Given the description of an element on the screen output the (x, y) to click on. 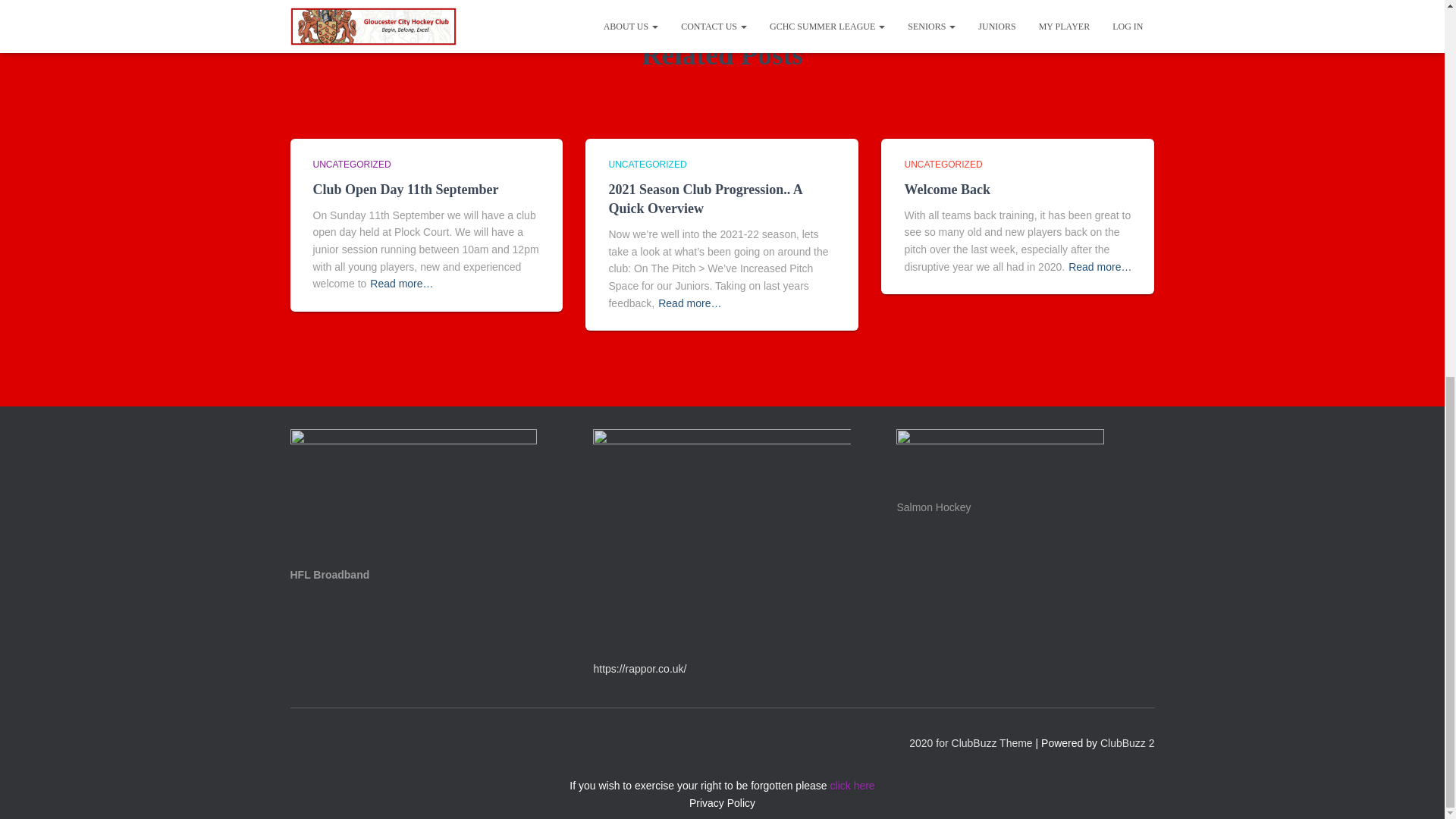
Club Open Day 11th September (405, 189)
UNCATEGORIZED (646, 163)
UNCATEGORIZED (351, 163)
